Given the description of an element on the screen output the (x, y) to click on. 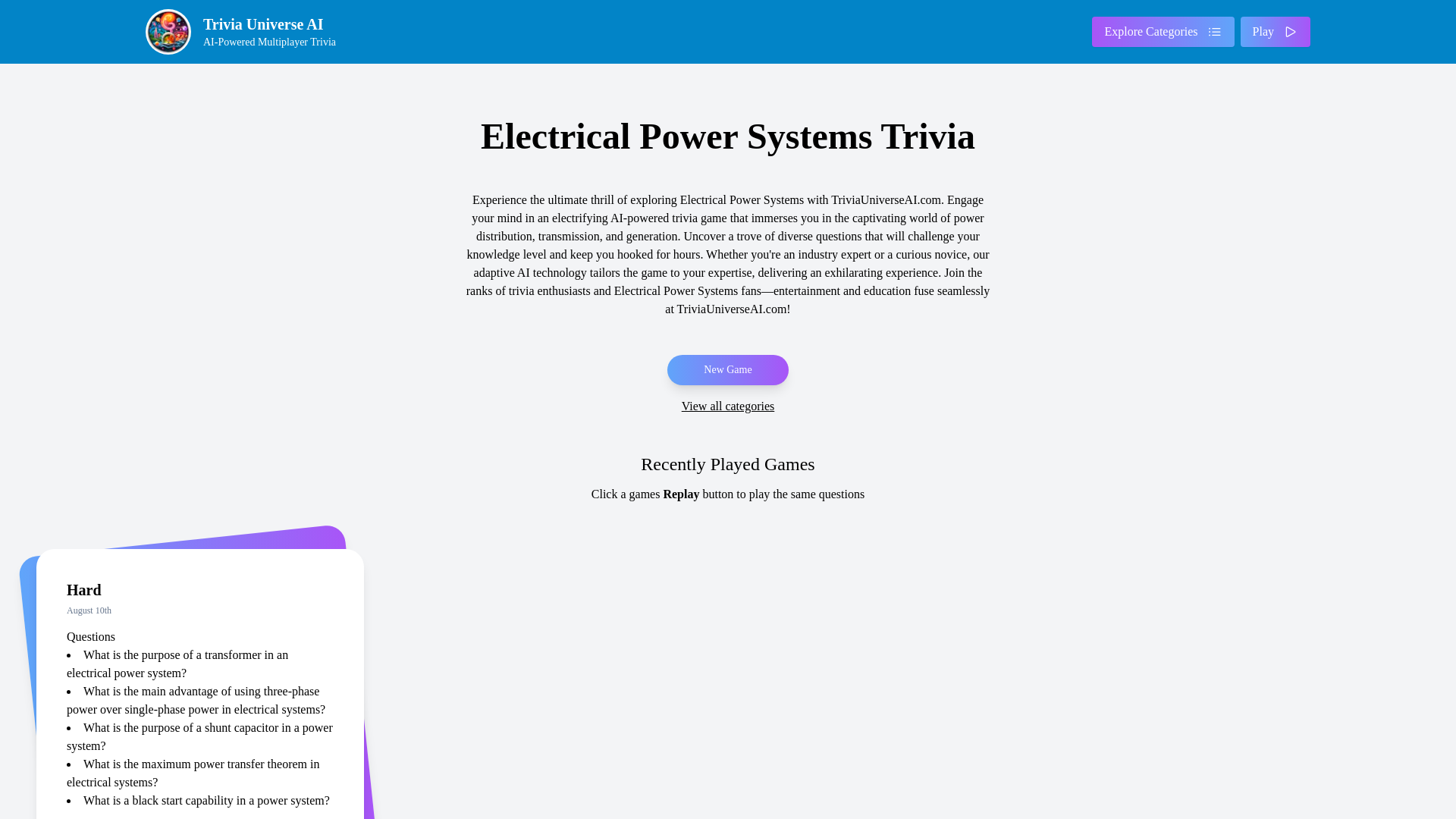
View all categories (727, 406)
Play (246, 31)
Explore Categories (1275, 31)
New Game (1162, 31)
